Given the description of an element on the screen output the (x, y) to click on. 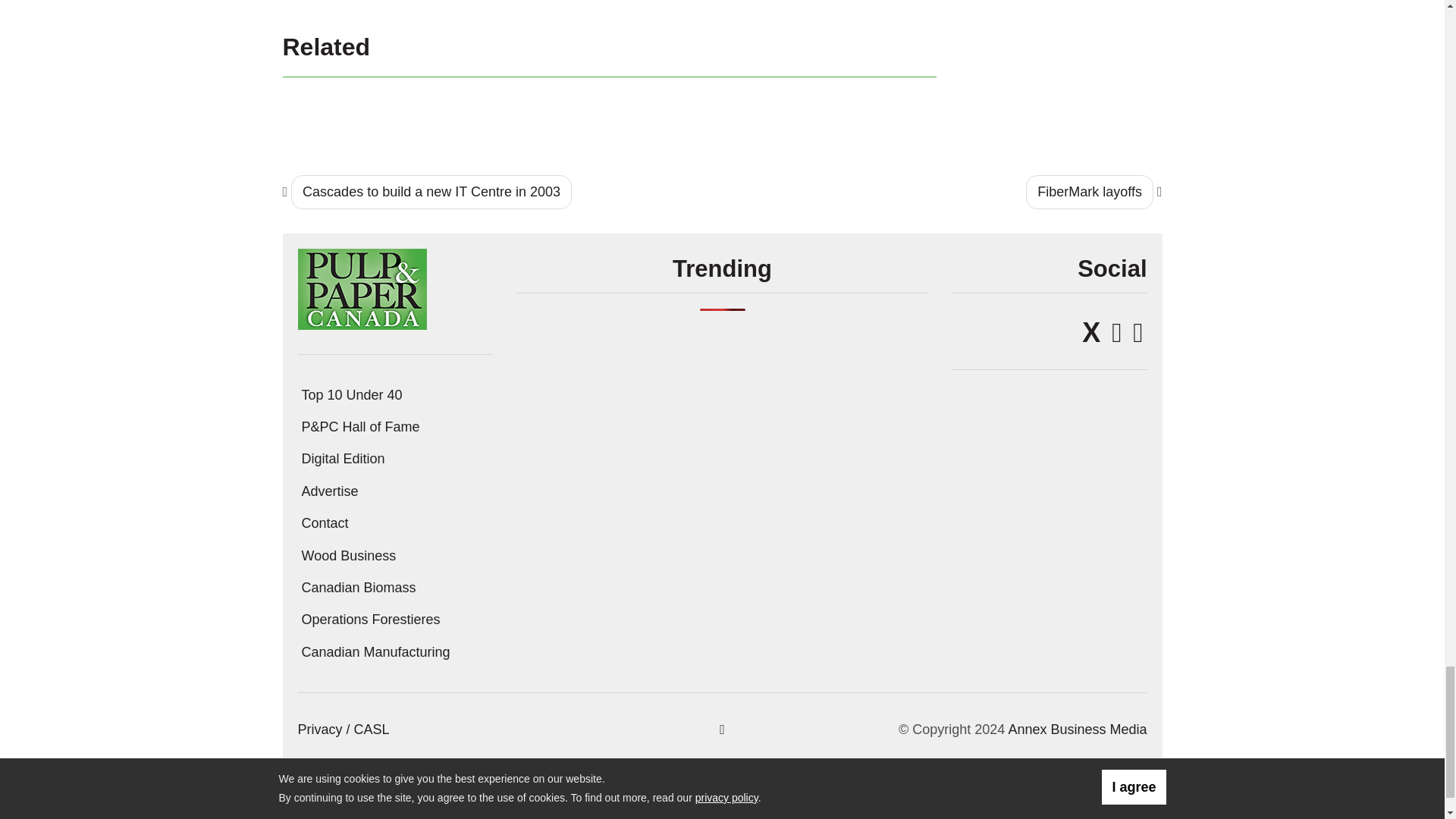
Pulp and Paper Canada (361, 287)
Annex Business Media (1077, 729)
scroll to top (722, 729)
